Given the description of an element on the screen output the (x, y) to click on. 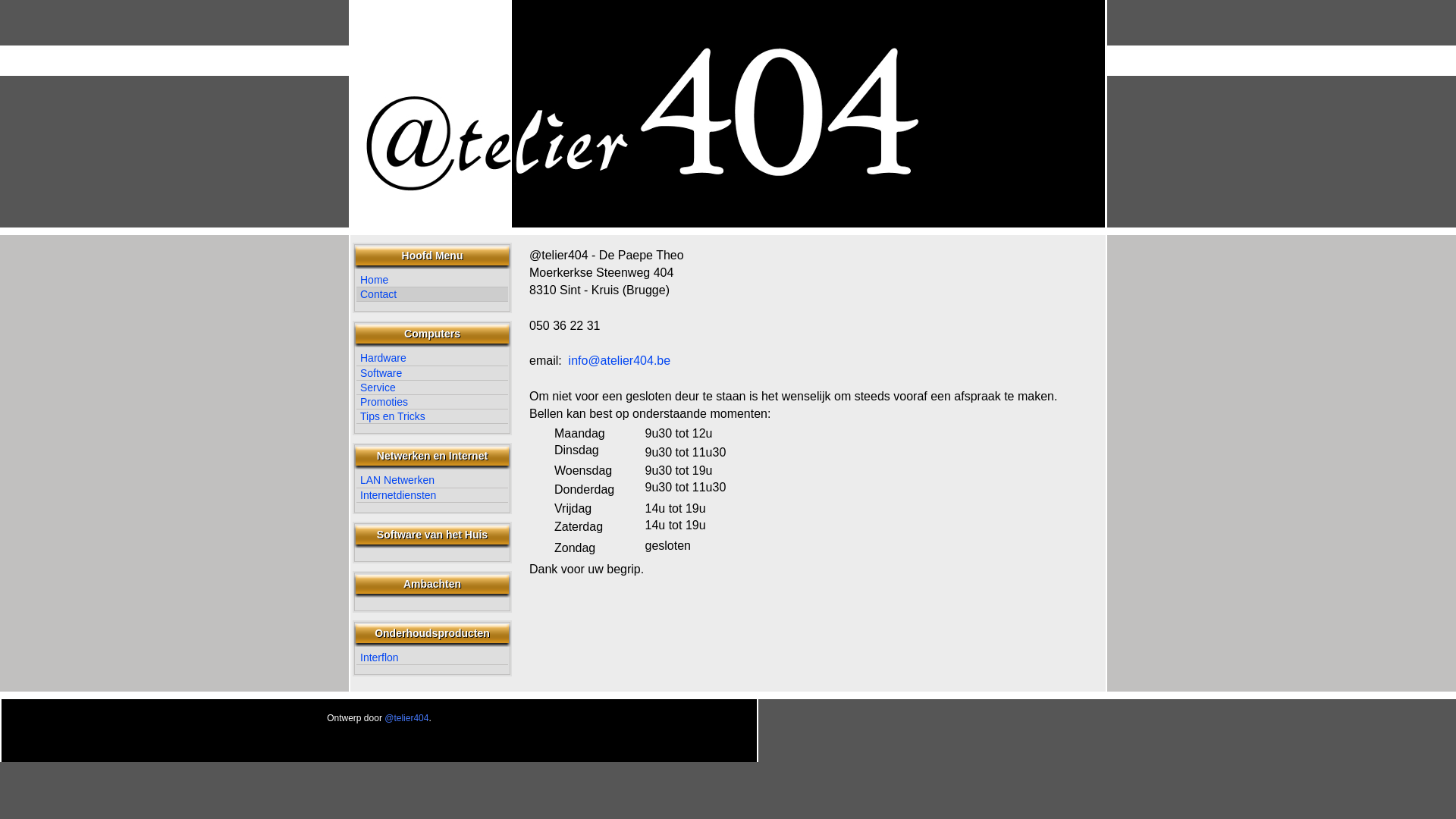
Contact Element type: text (432, 294)
Promoties Element type: text (432, 402)
@telier404 Element type: text (406, 717)
LAN Netwerken Element type: text (432, 480)
Service Element type: text (432, 387)
info@atelier404.be Element type: text (619, 360)
Software Element type: text (432, 373)
Home Element type: text (432, 280)
Internetdiensten Element type: text (432, 495)
Tips en Tricks Element type: text (432, 416)
Interflon Element type: text (432, 657)
Hardware Element type: text (432, 358)
